Given the description of an element on the screen output the (x, y) to click on. 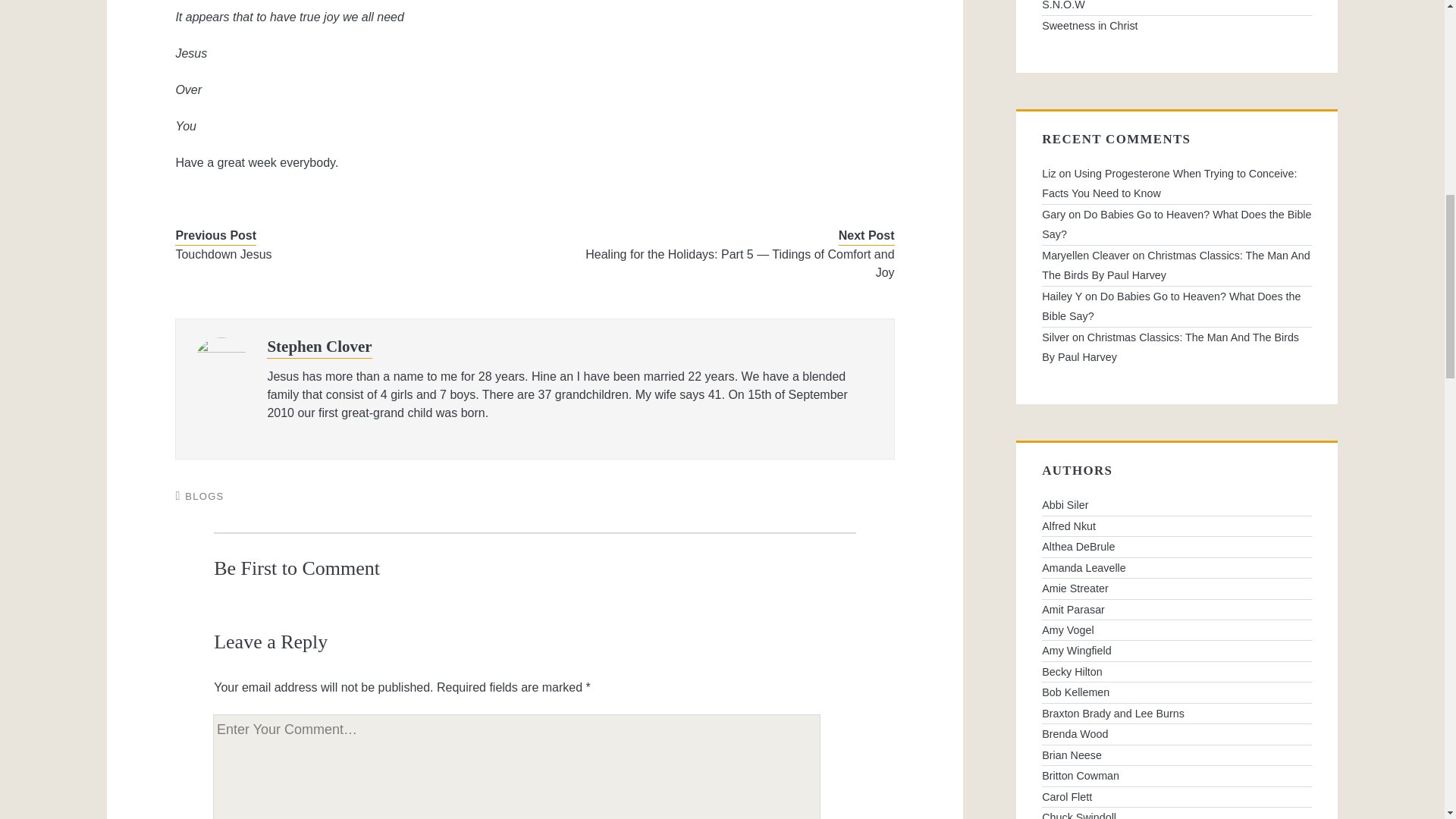
Bob Kellemen (1176, 691)
Amanda Leavelle (1176, 567)
Amit Parasar (1176, 609)
Amie Streater (1176, 588)
Do Babies Go to Heaven? What Does the Bible Say? (1176, 224)
Althea DeBrule (1176, 546)
Alfred Nkut (1176, 526)
S.N.O.W (1176, 7)
Abbi Siler (1176, 505)
Amy Vogel (1176, 629)
Touchdown Jesus (339, 254)
Do Babies Go to Heaven? What Does the Bible Say? (1171, 306)
Stephen Clover (318, 346)
Christmas Classics: The Man And The Birds By Paul Harvey (1170, 347)
Posts by Amanda Leavelle (1176, 567)
